Given the description of an element on the screen output the (x, y) to click on. 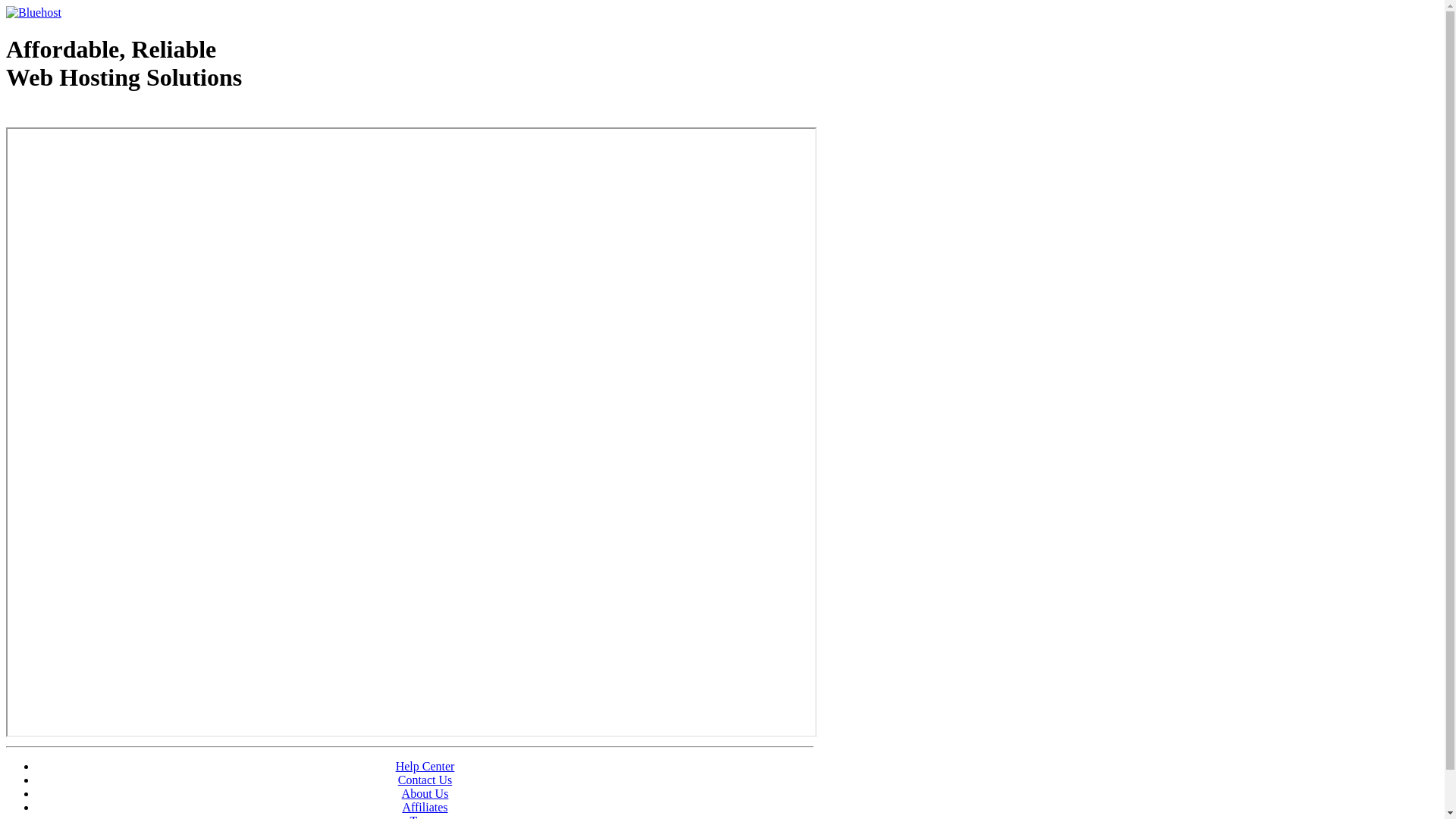
Help Center Element type: text (425, 765)
Affiliates Element type: text (424, 806)
Contact Us Element type: text (425, 779)
About Us Element type: text (424, 793)
Web Hosting - courtesy of www.bluehost.com Element type: text (94, 115)
